Given the description of an element on the screen output the (x, y) to click on. 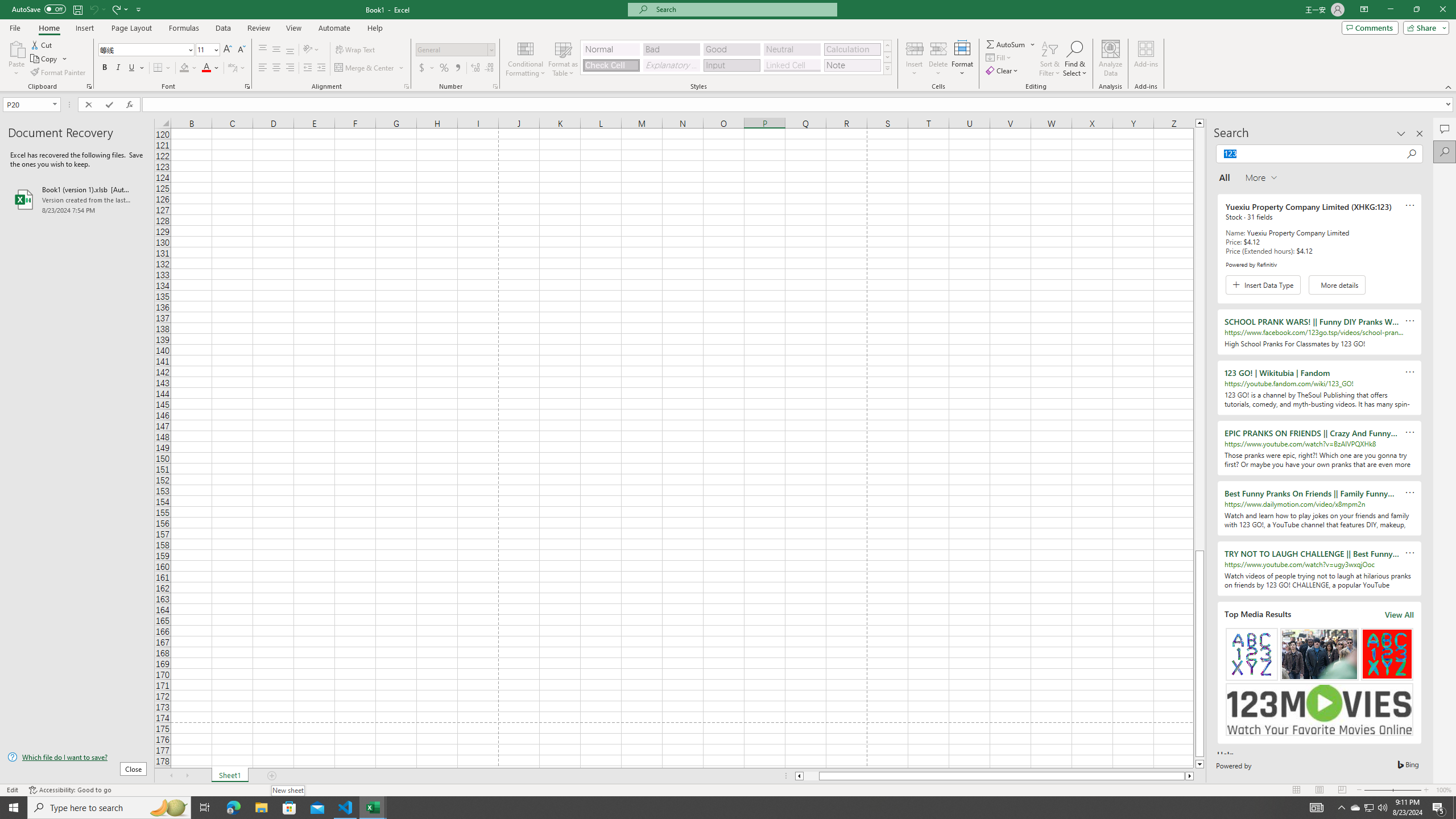
Bad (671, 49)
Check Cell (611, 65)
Paste (16, 48)
Comma Style (457, 67)
Paste (16, 58)
Page up (1199, 338)
Bold (104, 67)
